Given the description of an element on the screen output the (x, y) to click on. 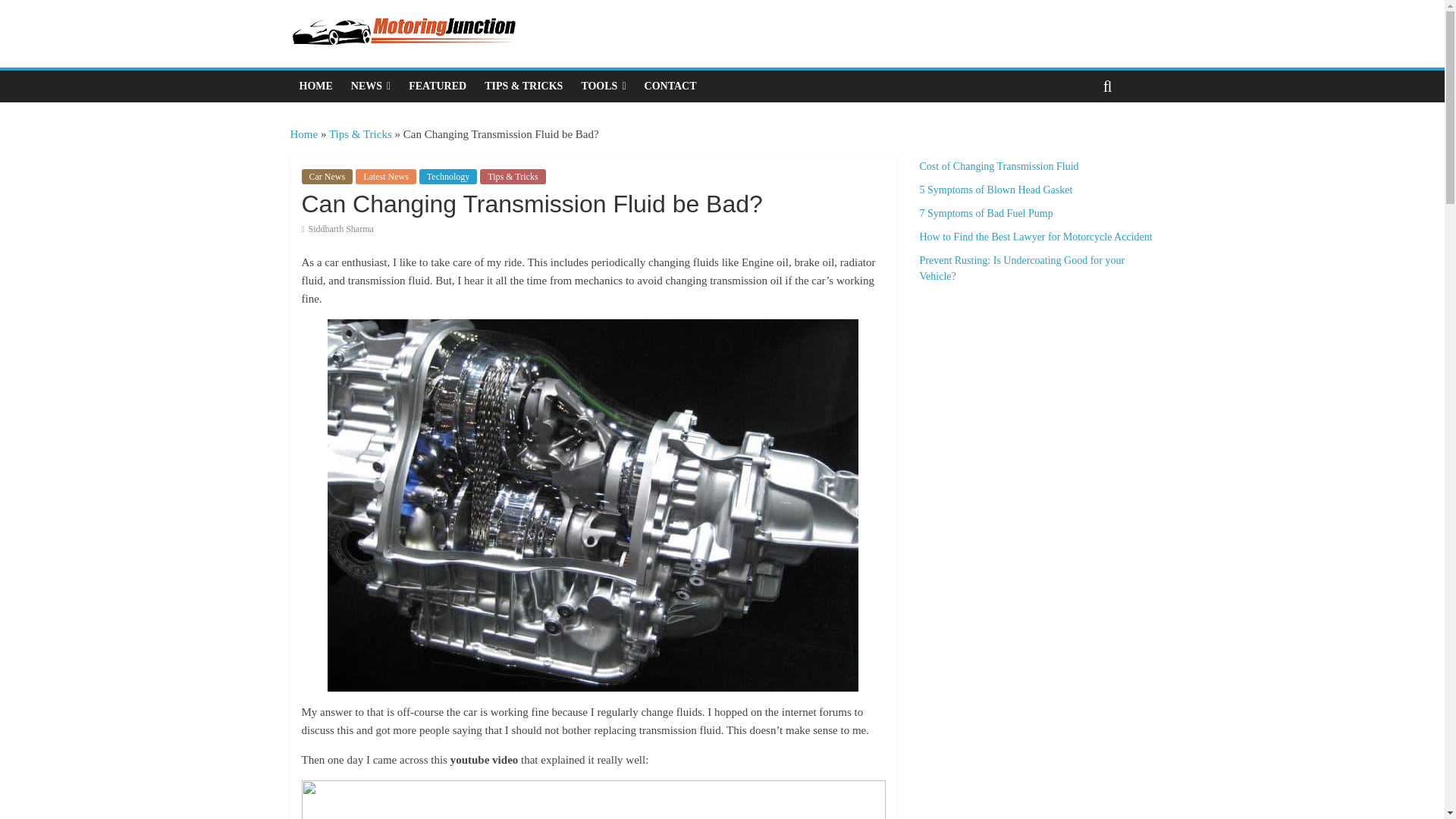
Latest News (385, 176)
FEATURED (437, 86)
TOOLS (603, 86)
Siddharth Sharma (341, 228)
Home (303, 133)
HOME (314, 86)
Siddharth Sharma (341, 228)
NEWS (370, 86)
Technology (448, 176)
Car News (327, 176)
CONTACT (670, 86)
